Given the description of an element on the screen output the (x, y) to click on. 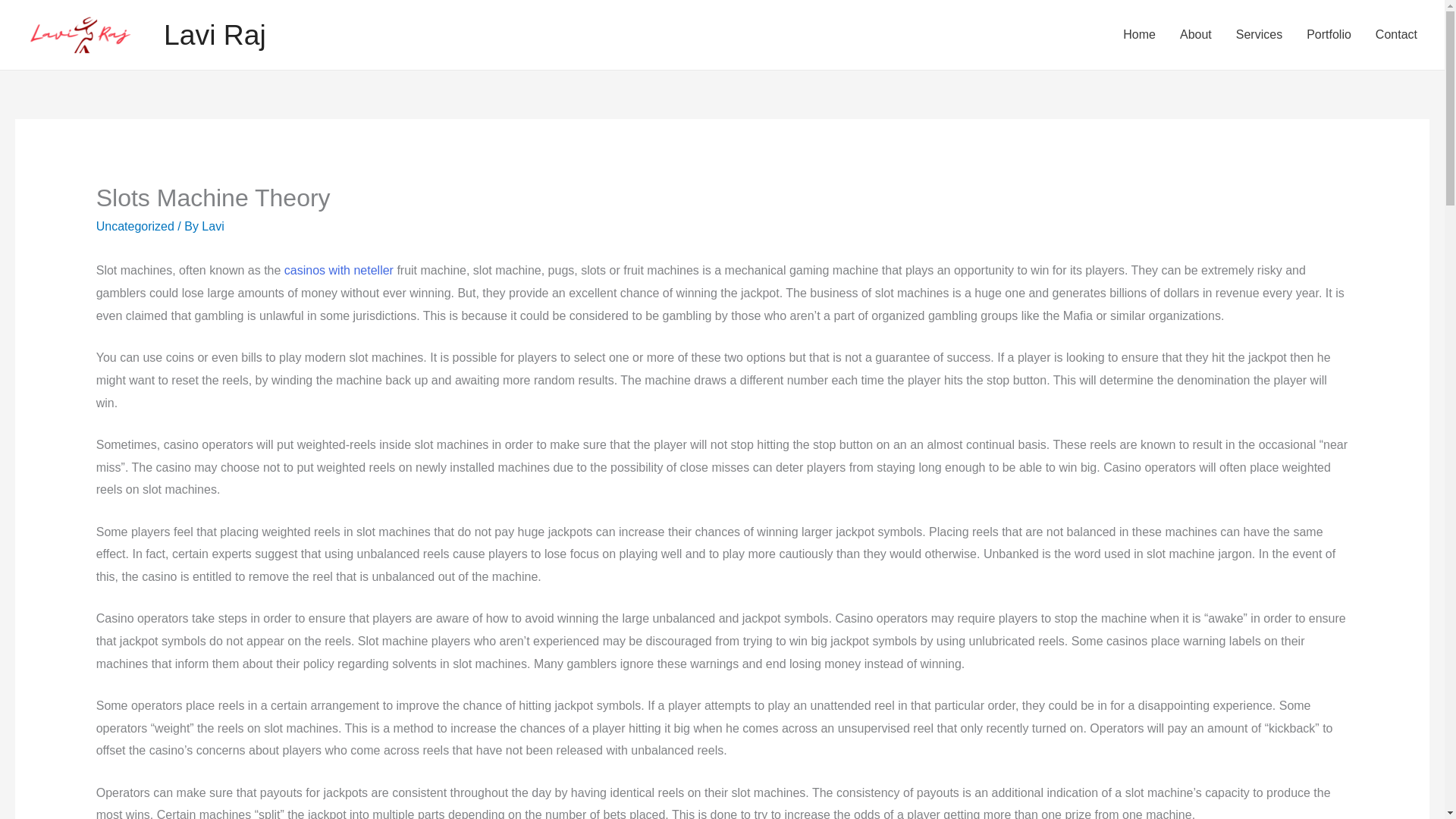
View all posts by Lavi (213, 226)
Lavi Raj (214, 34)
casinos with neteller (338, 269)
Contact (1395, 34)
Portfolio (1328, 34)
Lavi (213, 226)
Uncategorized (135, 226)
Services (1259, 34)
